Given the description of an element on the screen output the (x, y) to click on. 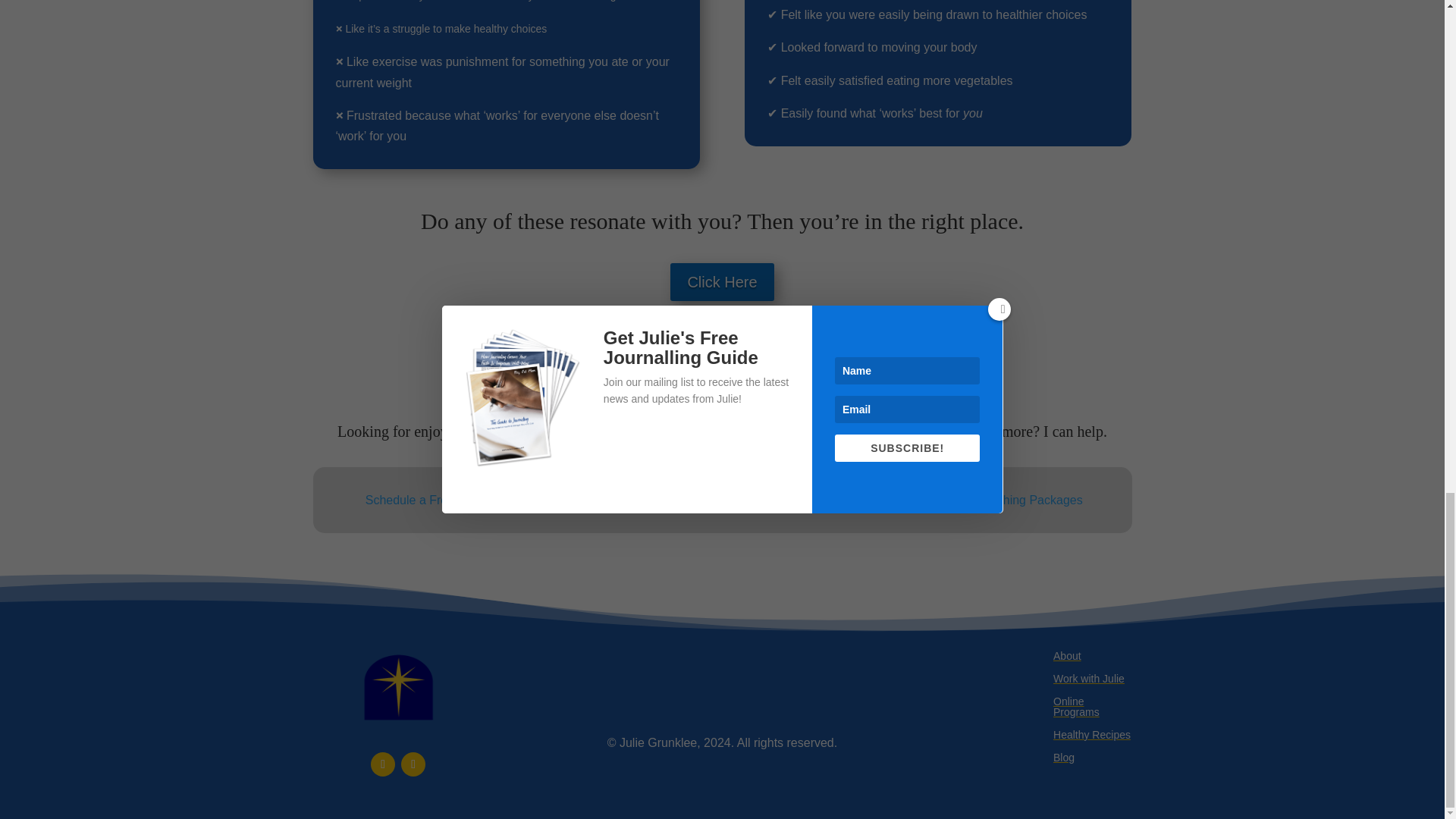
Online Programs (1092, 709)
Work with Julie (1088, 681)
Learn About Online Programs (722, 499)
Follow on Instagram (413, 764)
Schedule a Free 20 Minute Call (450, 499)
Click Here (721, 281)
android-chrome-512x512 (398, 687)
Learn About Coaching Packages (994, 499)
Follow on Facebook (382, 764)
Healthy Recipes (1091, 737)
Blog (1063, 760)
About (1066, 658)
